Given the description of an element on the screen output the (x, y) to click on. 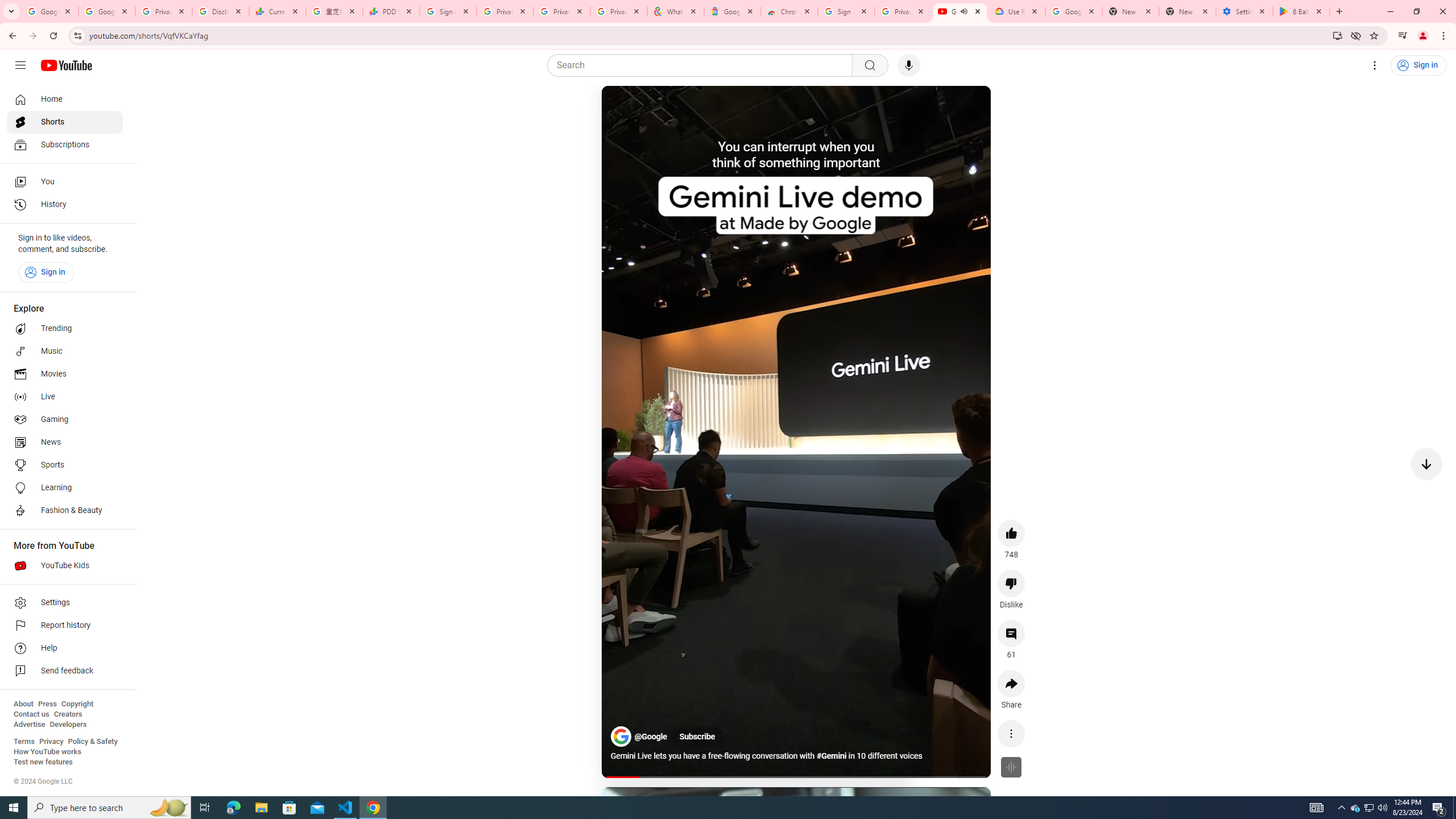
Google (731, 11)
Music (64, 350)
YouTube Kids (64, 565)
Policy & Safety (91, 741)
Mute (657, 108)
News (64, 441)
like this video along with 748 other people (1011, 533)
View 61 comments (1011, 633)
